Given the description of an element on the screen output the (x, y) to click on. 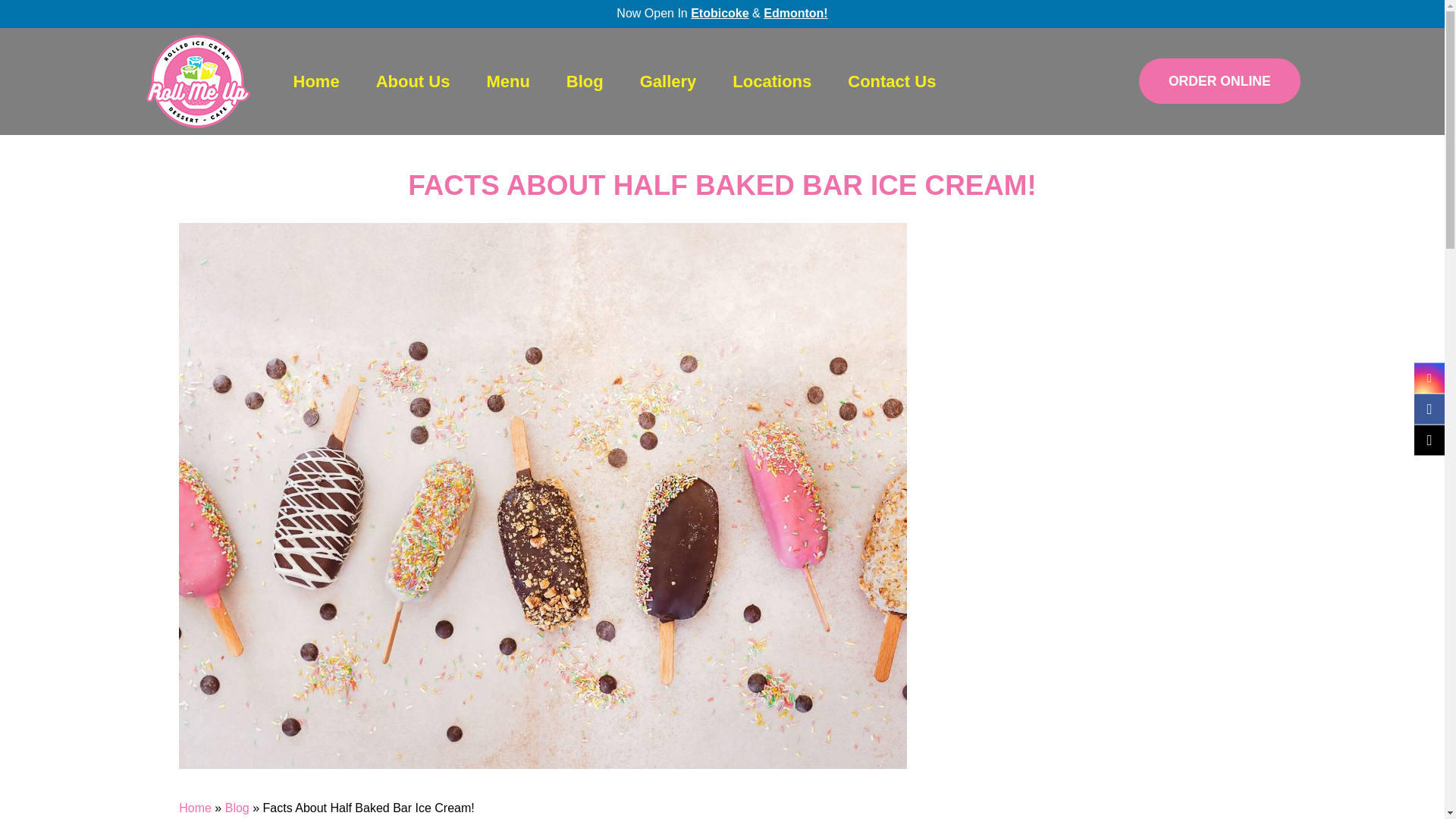
Edmonton! (794, 12)
Blog (585, 81)
Locations (771, 81)
Home (315, 81)
Contact Us (891, 81)
Etobicoke (719, 12)
Gallery (668, 81)
Menu (507, 81)
About Us (412, 81)
